Given the description of an element on the screen output the (x, y) to click on. 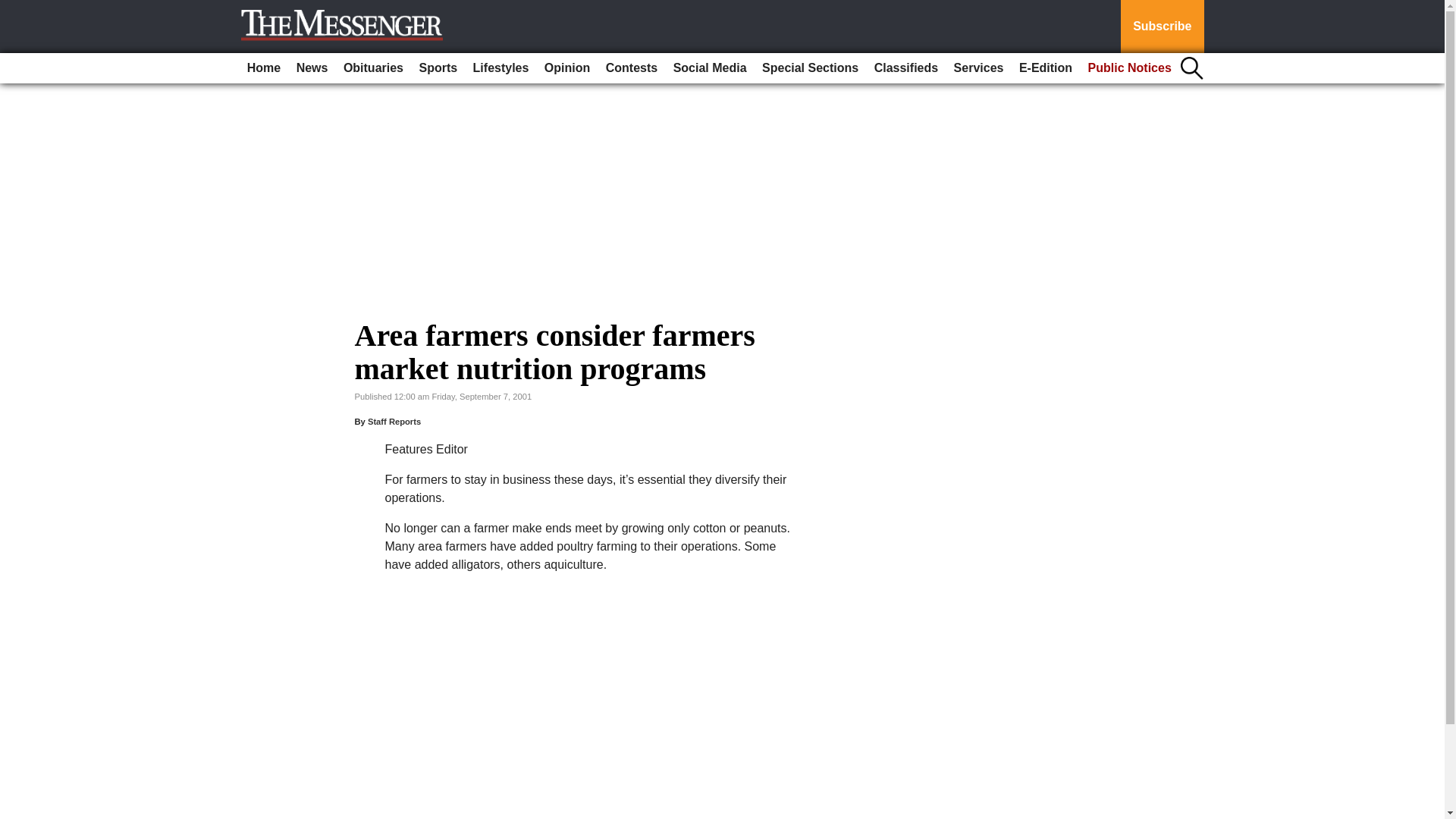
Home (263, 68)
Sports (437, 68)
Classifieds (905, 68)
Special Sections (809, 68)
Public Notices (1129, 68)
Obituaries (373, 68)
Social Media (709, 68)
Lifestyles (501, 68)
News (311, 68)
Services (978, 68)
